Given the description of an element on the screen output the (x, y) to click on. 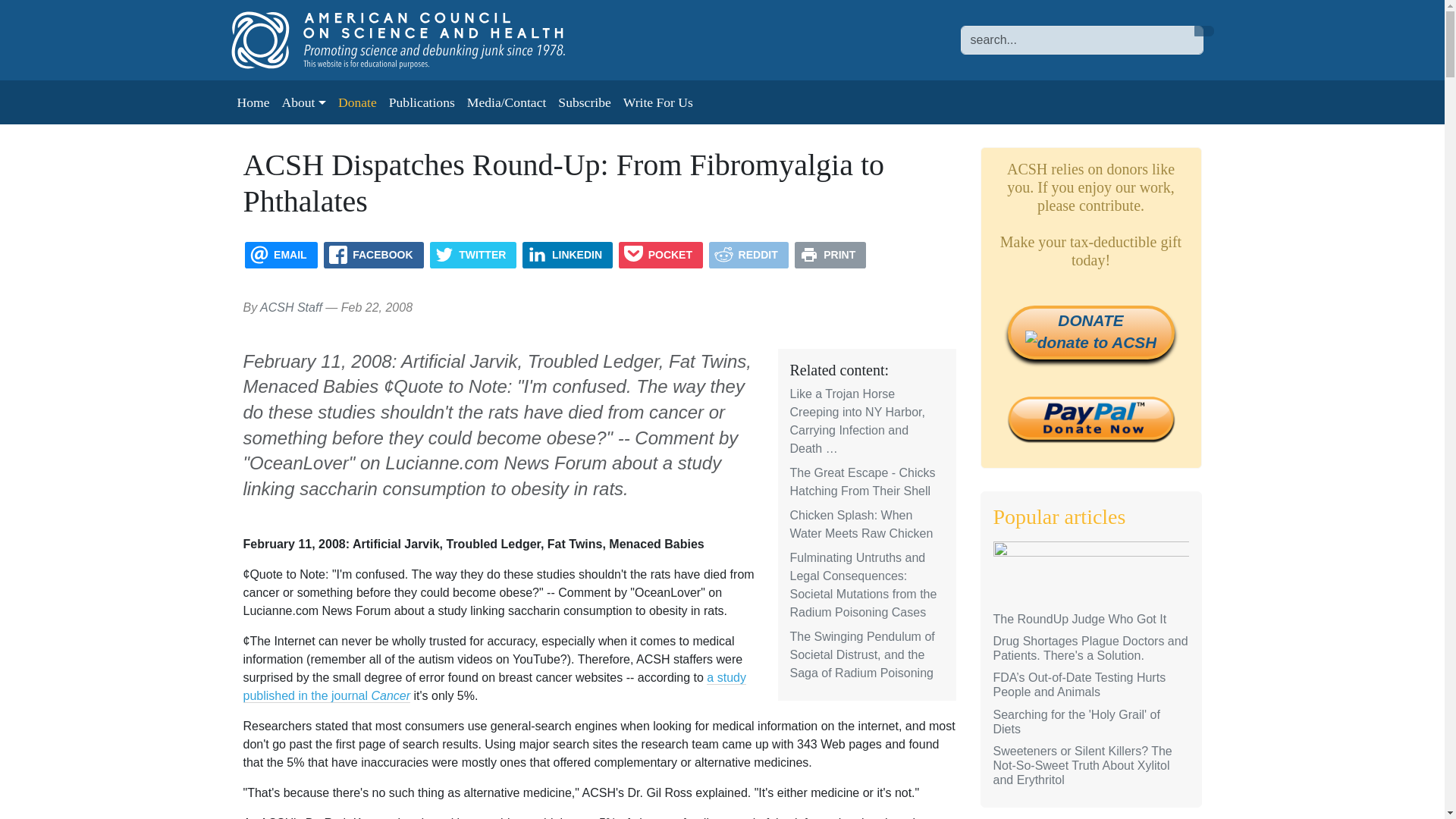
Skip to main content (60, 10)
REDDIT (749, 254)
ACSH Staff (290, 307)
a study published in the journal Cancer (494, 686)
Write For Us (657, 101)
The Great Escape - Chicks Hatching From Their Shell (863, 481)
Home (413, 39)
FACEBOOK (373, 254)
POCKET (660, 254)
